Given the description of an element on the screen output the (x, y) to click on. 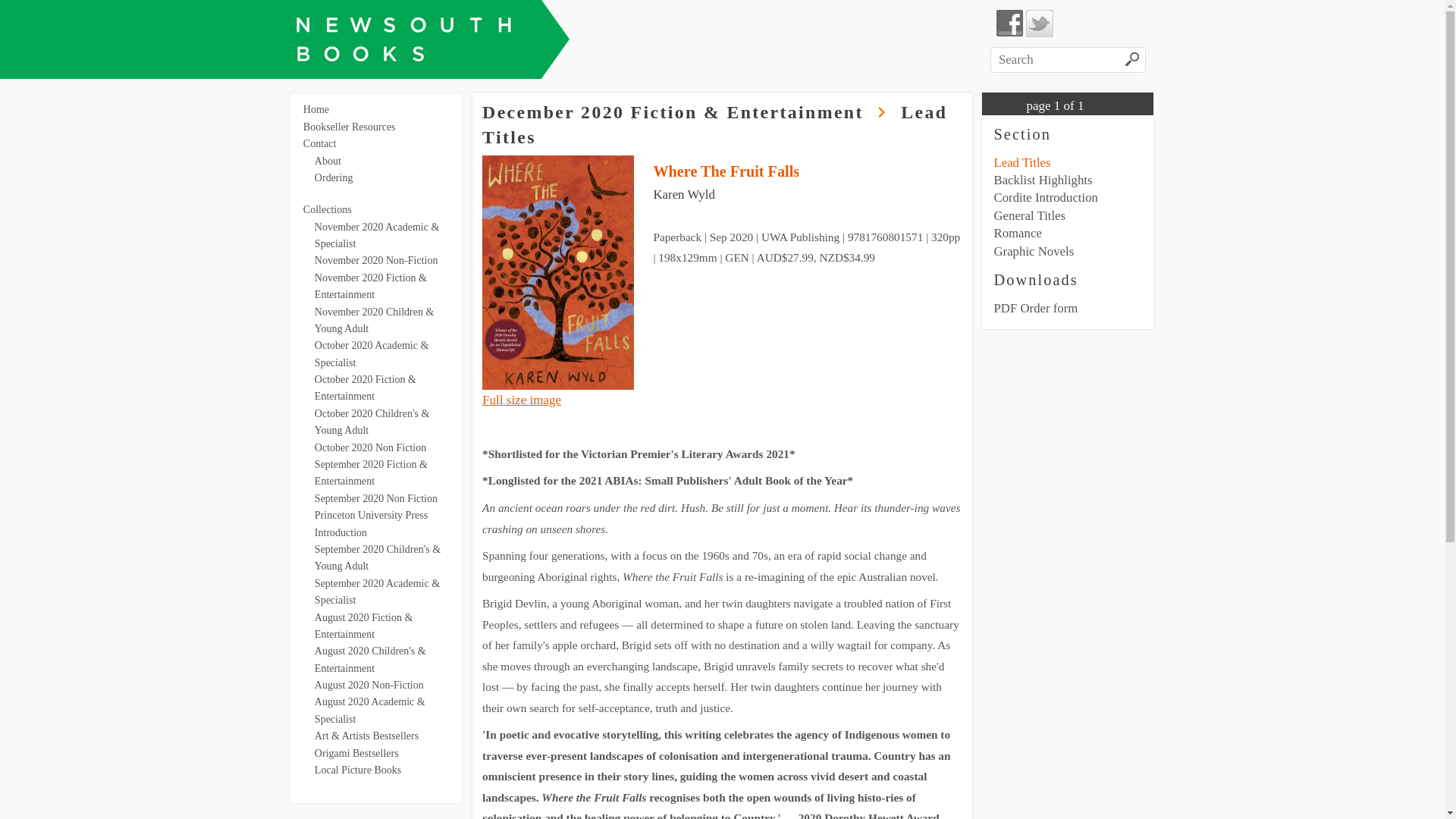
Ordering Element type: text (333, 177)
October 2020 Non Fiction Element type: text (370, 447)
Art & Artists Bestsellers Element type: text (366, 735)
PDF Order form Element type: text (1035, 308)
November 2020 Children & Young Adult Element type: text (373, 320)
Graphic Novels Element type: text (1033, 251)
Where The Fruit Falls Element type: text (725, 171)
August 2020 Children's & Entertainment Element type: text (370, 659)
Facebook Element type: text (1009, 23)
About Element type: text (327, 160)
October 2020 Fiction & Entertainment Element type: text (365, 387)
Cordite Introduction Element type: text (1045, 197)
October 2020 Academic & Specialist Element type: text (371, 353)
August 2020 Fiction & Entertainment Element type: text (363, 625)
Lead Titles Element type: text (1021, 162)
Search Element type: text (1132, 60)
October 2020 Children's & Young Adult Element type: text (371, 421)
Origami Bestsellers Element type: text (356, 753)
Home Element type: text (316, 109)
November 2020 Non-Fiction Element type: text (376, 260)
Contact Element type: text (319, 143)
Local Picture Books Element type: text (357, 769)
August 2020 Academic & Specialist Element type: text (369, 710)
November 2020 Fiction & Entertainment Element type: text (370, 286)
August 2020 Non-Fiction Element type: text (368, 684)
General Titles Element type: text (1029, 215)
September 2020 Non Fiction Element type: text (375, 498)
Bookseller Resources Element type: text (349, 126)
September 2020 Children's & Young Adult Element type: text (377, 557)
Princeton University Press Introduction Element type: text (370, 523)
September 2020 Fiction & Entertainment Element type: text (370, 472)
November 2020 Academic & Specialist Element type: text (376, 235)
Collections Element type: text (327, 209)
Full size image Element type: text (521, 399)
Backlist Highlights Element type: text (1042, 179)
Twitter Element type: text (1039, 23)
Romance Element type: text (1017, 232)
September 2020 Academic & Specialist Element type: text (376, 591)
